Given the description of an element on the screen output the (x, y) to click on. 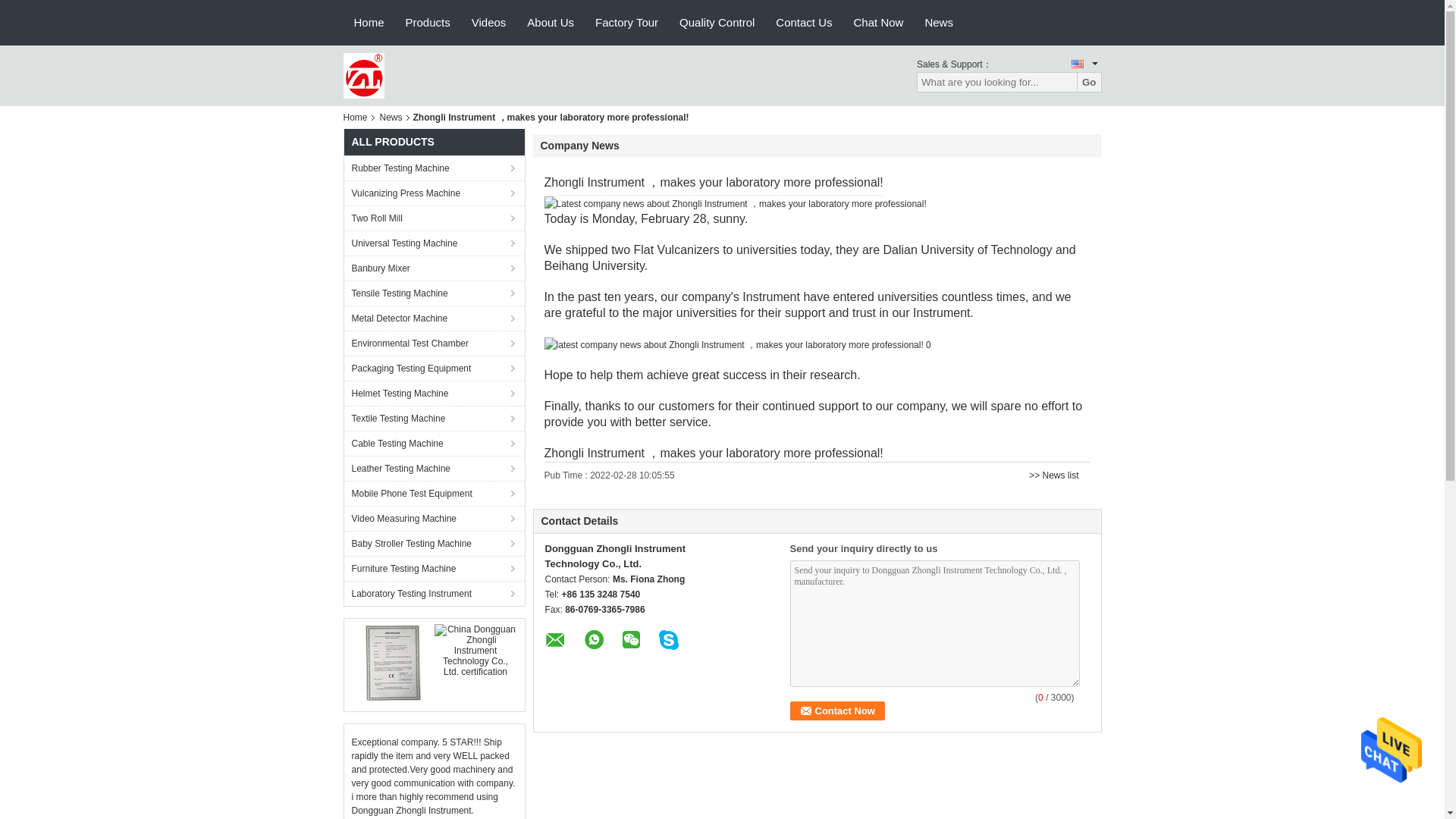
Dongguan Zhongli Instrument Technology Co., Ltd. (363, 74)
About Us (550, 22)
News (391, 117)
Factory Tour (626, 22)
Contact Us (804, 22)
News (938, 22)
Universal Testing Machine (433, 242)
Banbury Mixer (433, 267)
Two Roll Mill (433, 217)
Tensile Testing Machine (433, 292)
